Given the description of an element on the screen output the (x, y) to click on. 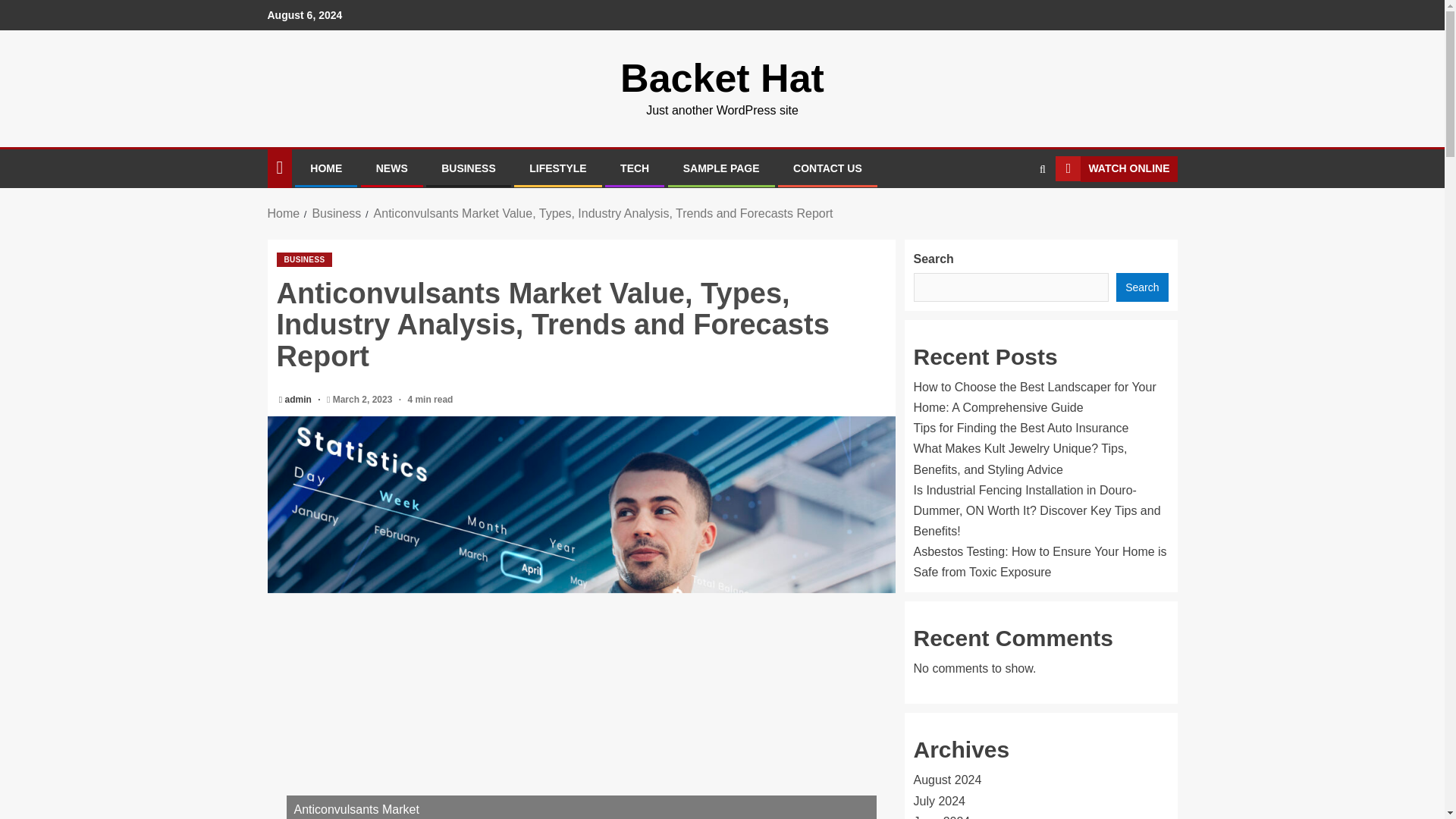
TECH (634, 168)
NEWS (391, 168)
Business (336, 213)
admin (299, 398)
BUSINESS (468, 168)
Backet Hat (722, 77)
CONTACT US (827, 168)
HOME (326, 168)
SAMPLE PAGE (721, 168)
WATCH ONLINE (1115, 168)
Home (282, 213)
LIFESTYLE (557, 168)
BUSINESS (303, 259)
Search (1013, 214)
